Given the description of an element on the screen output the (x, y) to click on. 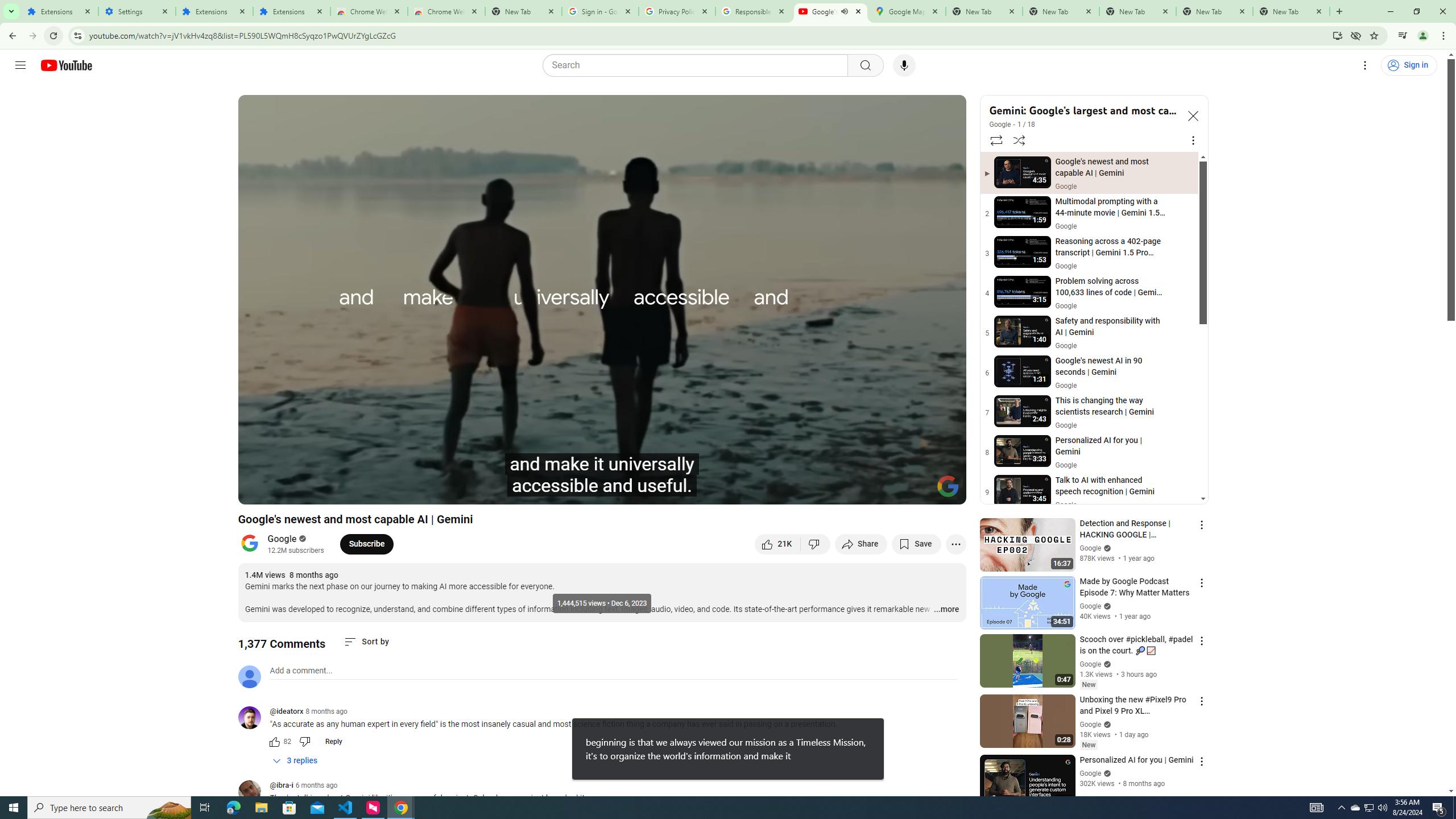
New Tab (523, 11)
Loop playlist (995, 140)
Shuffle playlist (1018, 140)
Dislike this comment (304, 741)
Channel watermark (947, 486)
6 months ago (316, 785)
Verified (1106, 773)
New (1087, 744)
Dislike this video (815, 543)
Save to playlist (915, 543)
Extensions (59, 11)
